Given the description of an element on the screen output the (x, y) to click on. 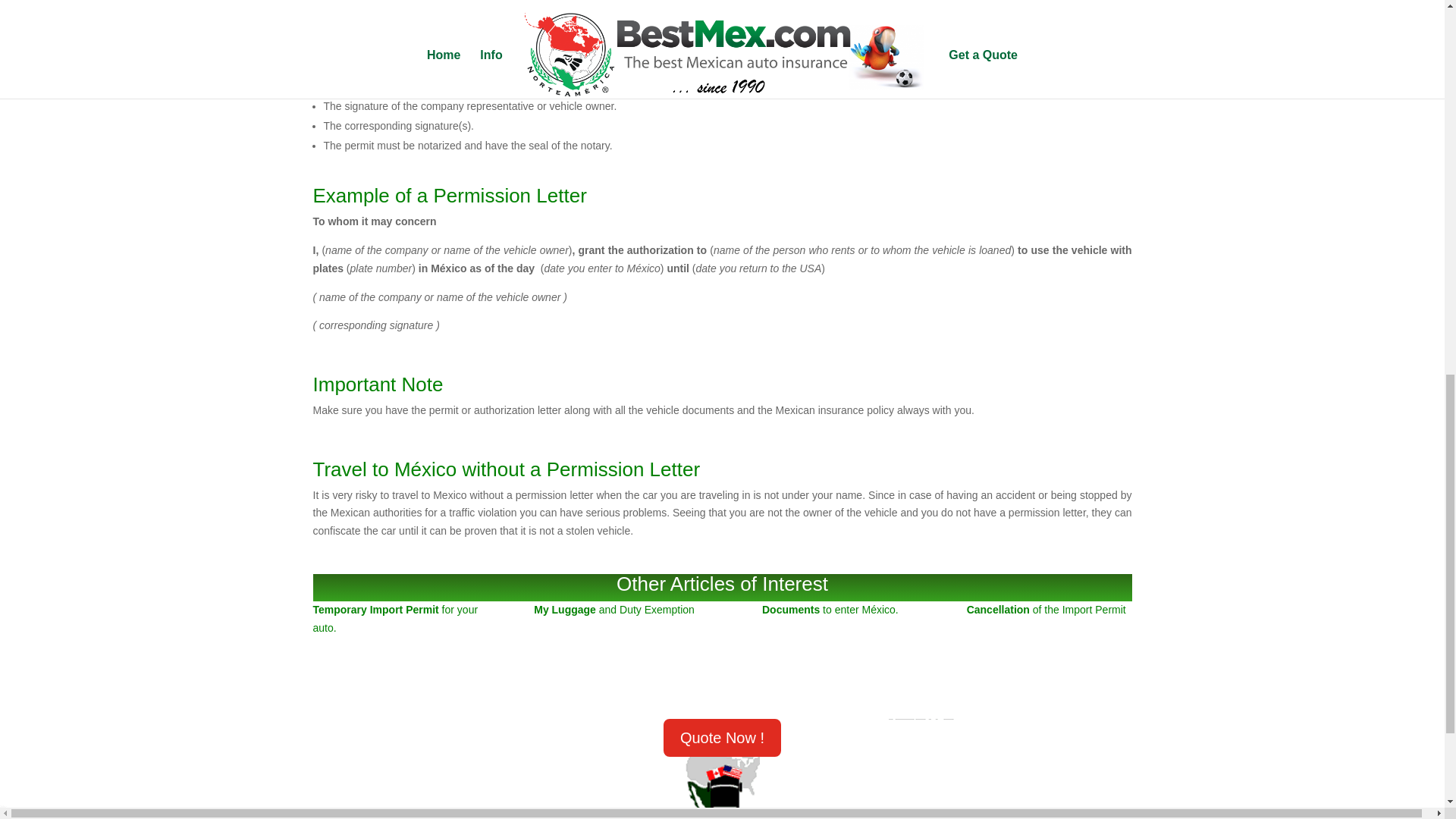
Cancellation of the Import Permit (1045, 609)
Temporary Import Permit for your auto. (395, 618)
mxga.com (339, 439)
Quote Now ! (721, 737)
My Luggage and Duty Exemption (614, 609)
